Given the description of an element on the screen output the (x, y) to click on. 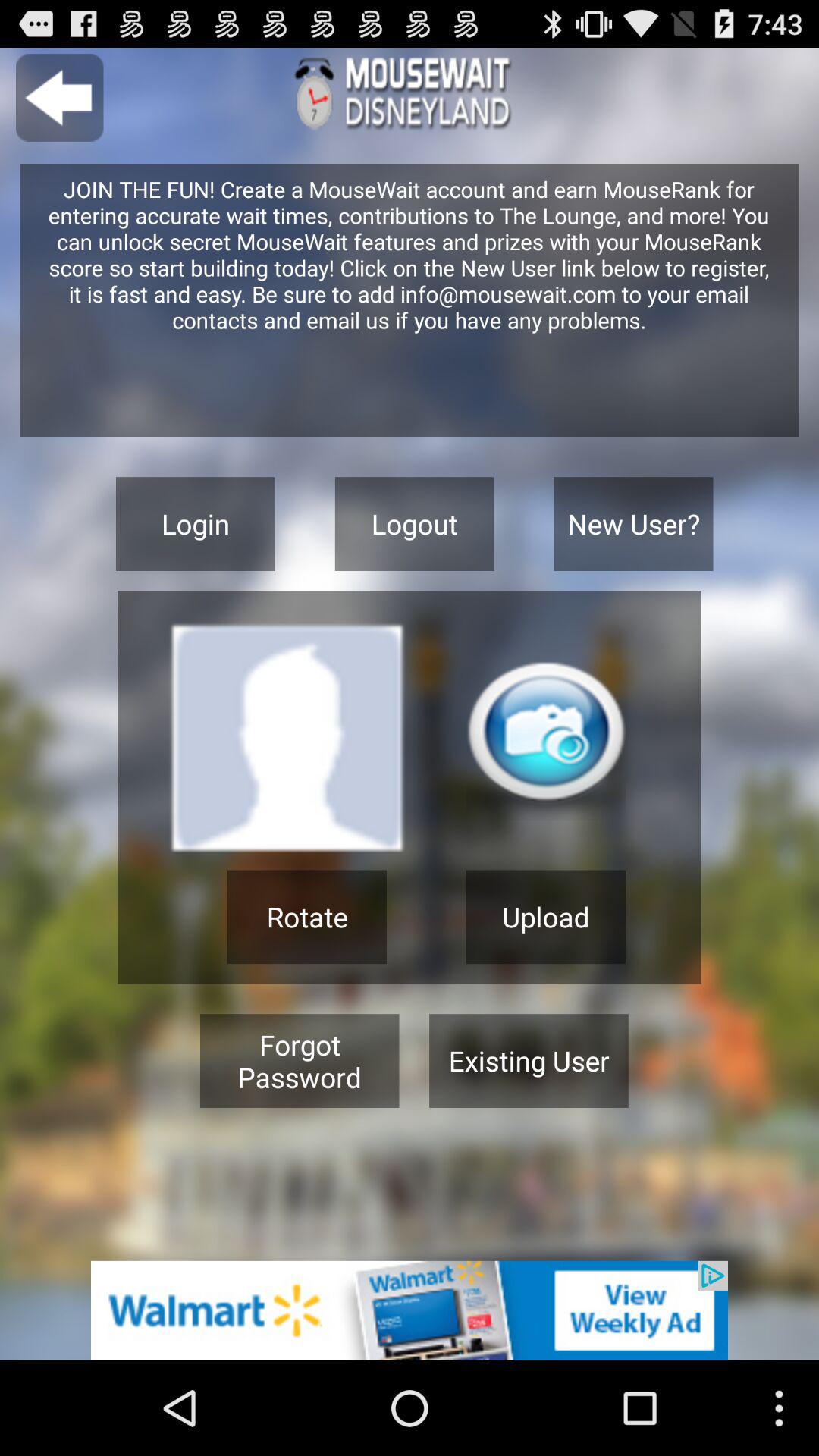
take a picture (545, 740)
